Given the description of an element on the screen output the (x, y) to click on. 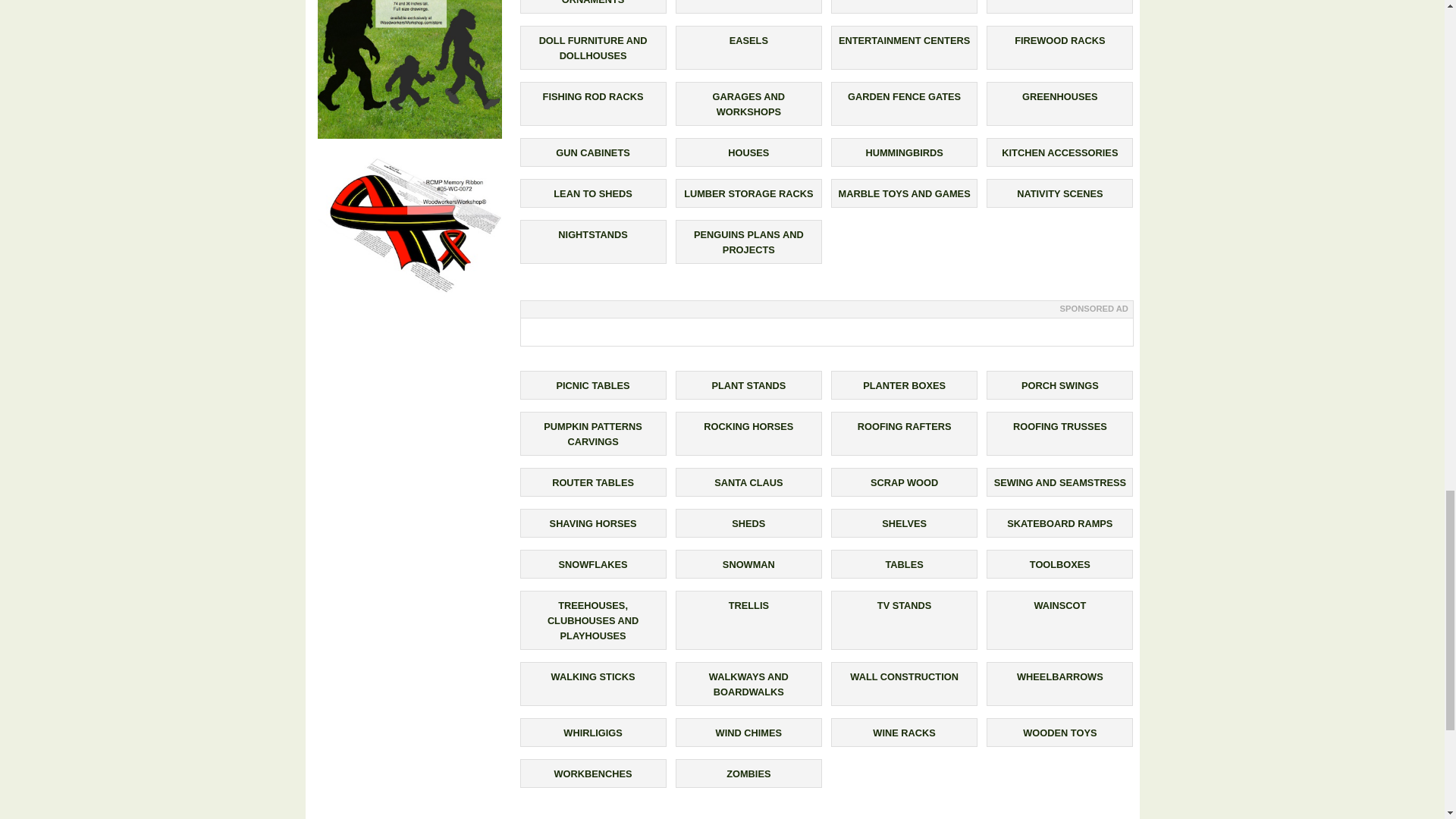
DOLL FURNITURE AND DOLLHOUSES (592, 48)
CHRISTMAS TREE ORNAMENTS (593, 2)
